Given the description of an element on the screen output the (x, y) to click on. 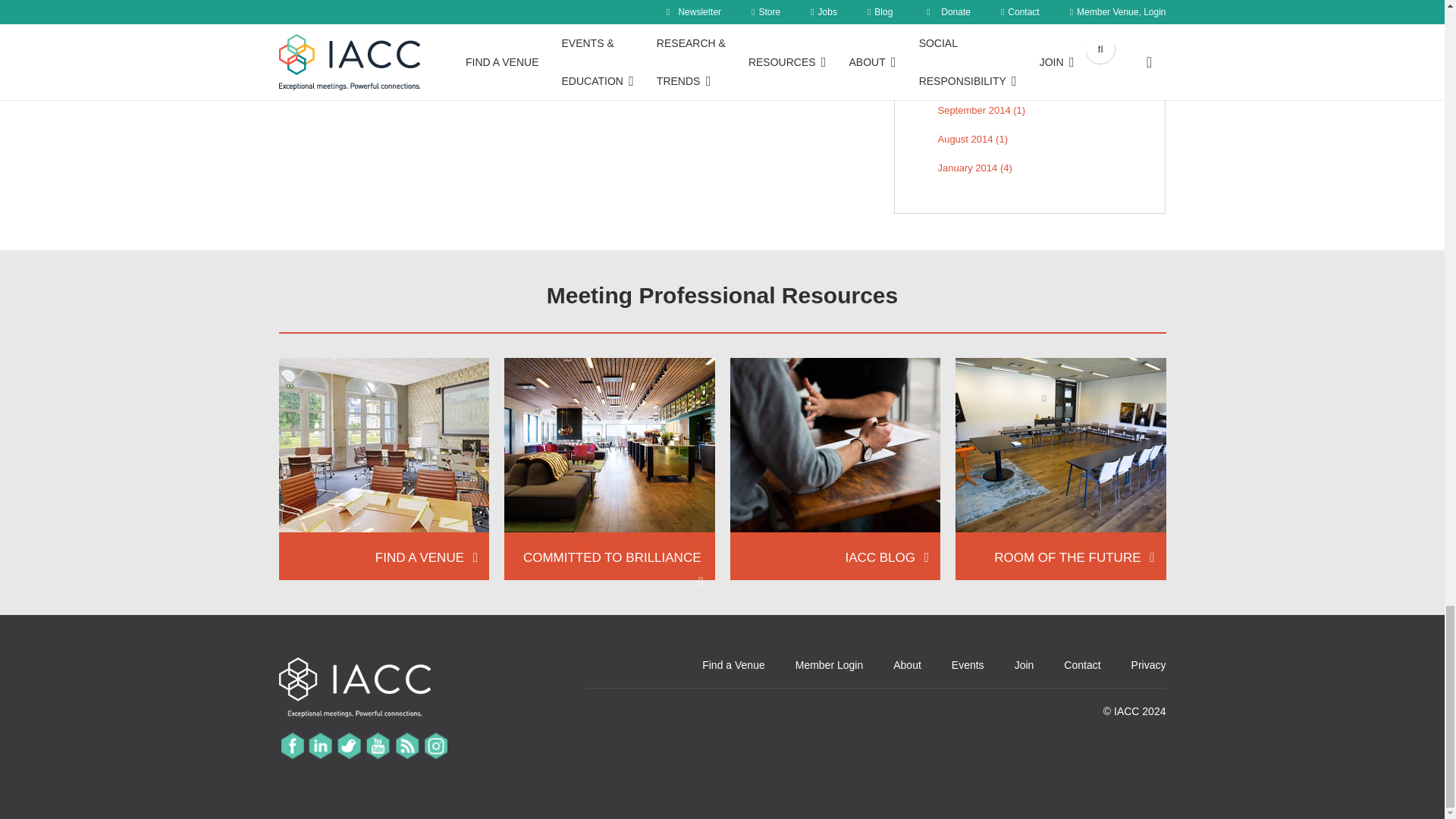
Instagram (435, 746)
LinkedIn (320, 746)
Facebook (291, 746)
RSS (406, 746)
Twitter (348, 746)
YouTube (377, 746)
